Given the description of an element on the screen output the (x, y) to click on. 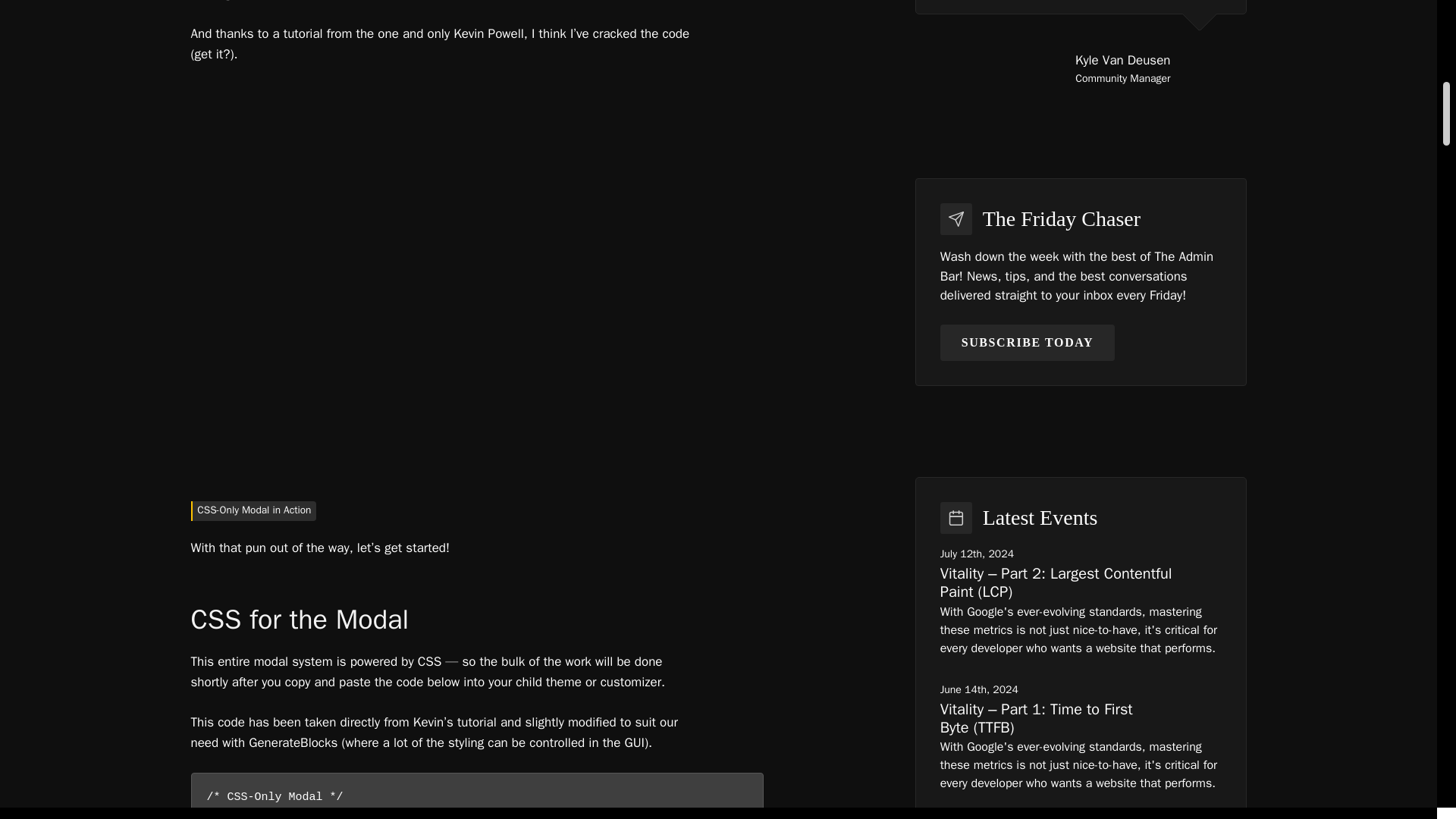
a tutorial from the one and only Kevin Powell (397, 33)
tab-headshot-100-2 (1201, 68)
